Given the description of an element on the screen output the (x, y) to click on. 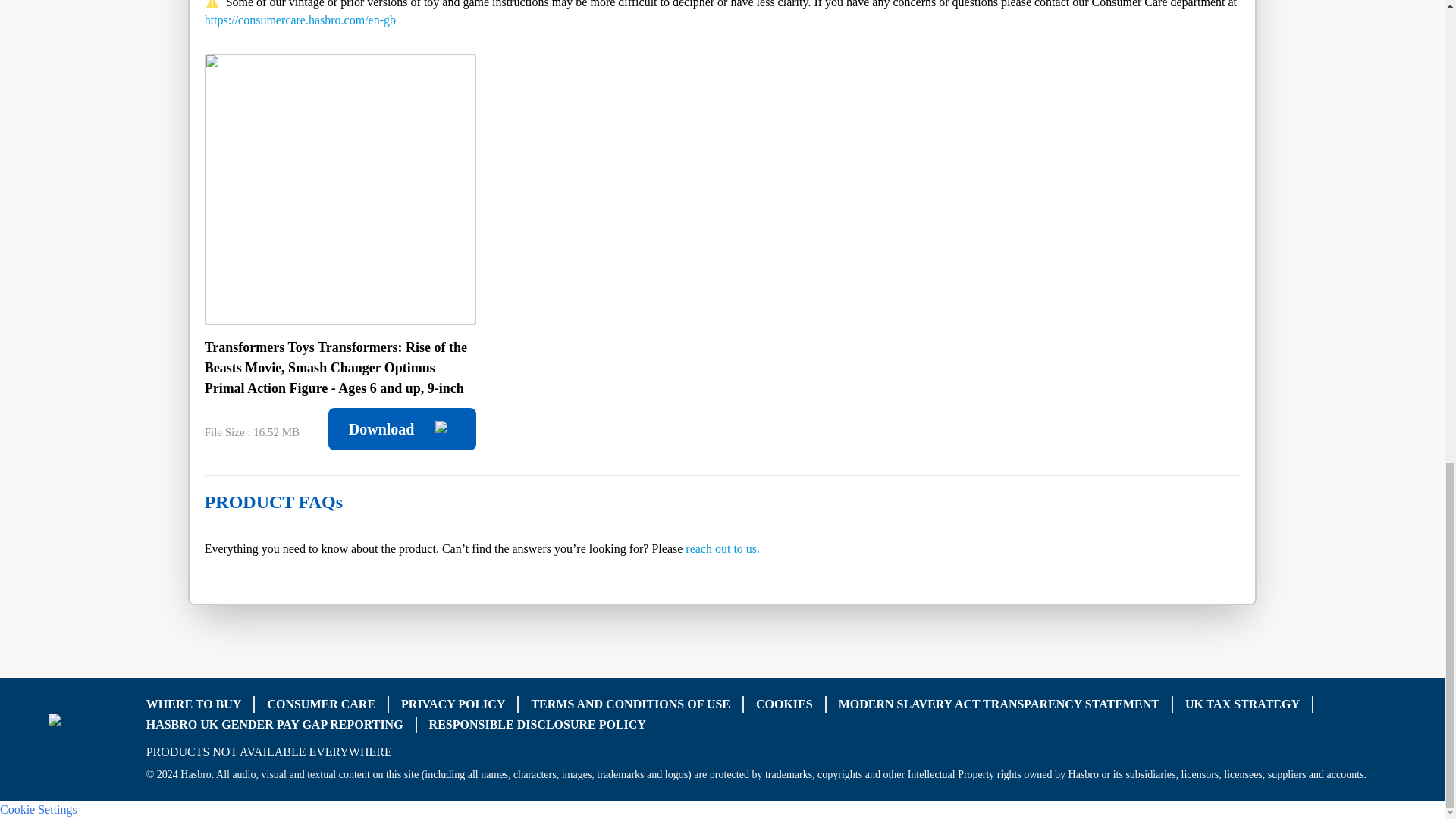
RESPONSIBLE DISCLOSURE POLICY (537, 724)
HASBRO UK GENDER PAY GAP REPORTING (275, 724)
reach out to us. (722, 548)
UK TAX STRATEGY (1242, 703)
Download (402, 428)
TERMS AND CONDITIONS OF USE (630, 703)
CONSUMER CARE (320, 703)
MODERN SLAVERY ACT TRANSPARENCY STATEMENT (998, 703)
WHERE TO BUY (194, 703)
PRIVACY POLICY (453, 703)
Cookie Settings (38, 809)
COOKIES (783, 703)
